Given the description of an element on the screen output the (x, y) to click on. 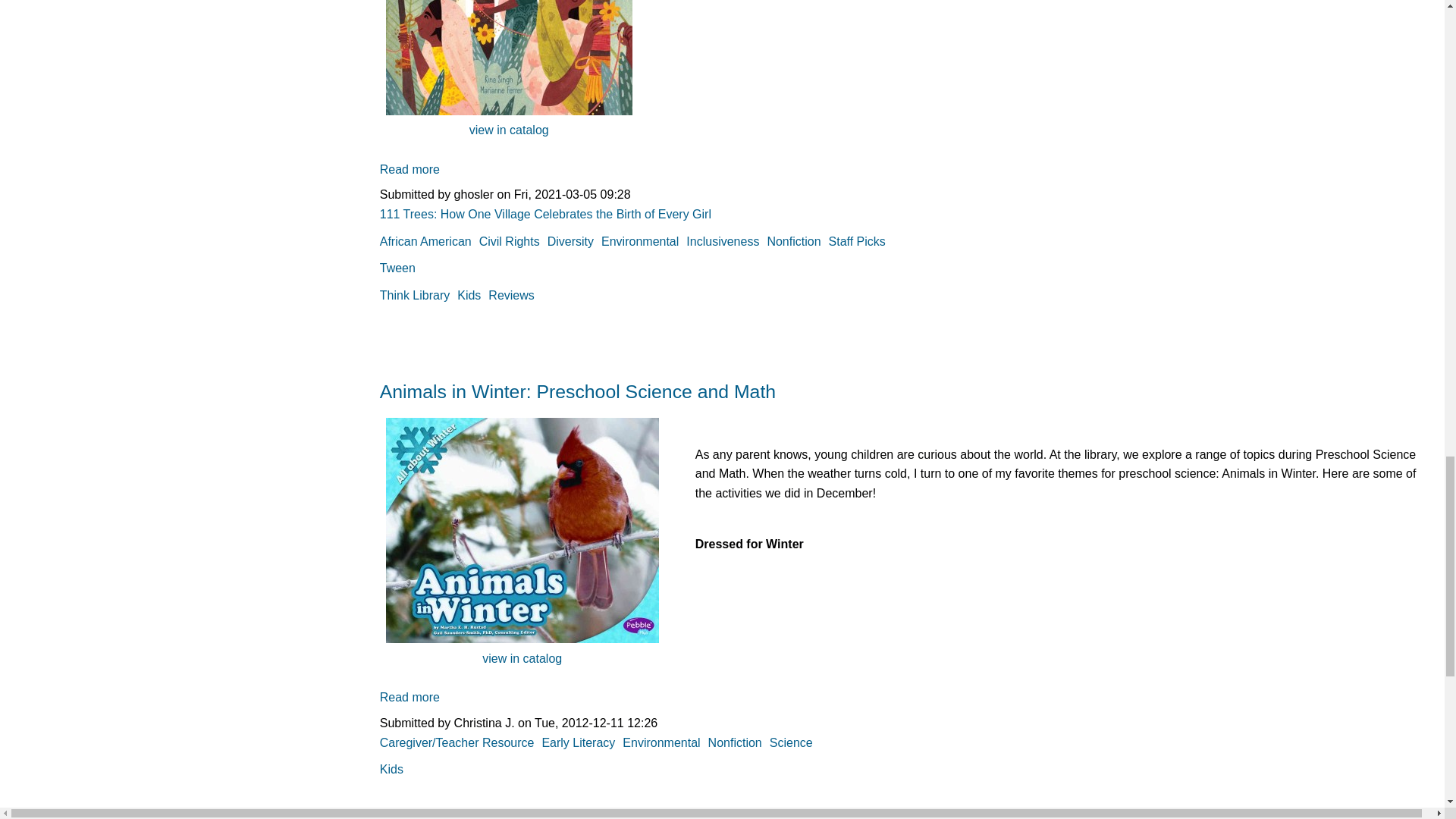
Animals in Winter: Preschool Science and Math (409, 697)
